Given the description of an element on the screen output the (x, y) to click on. 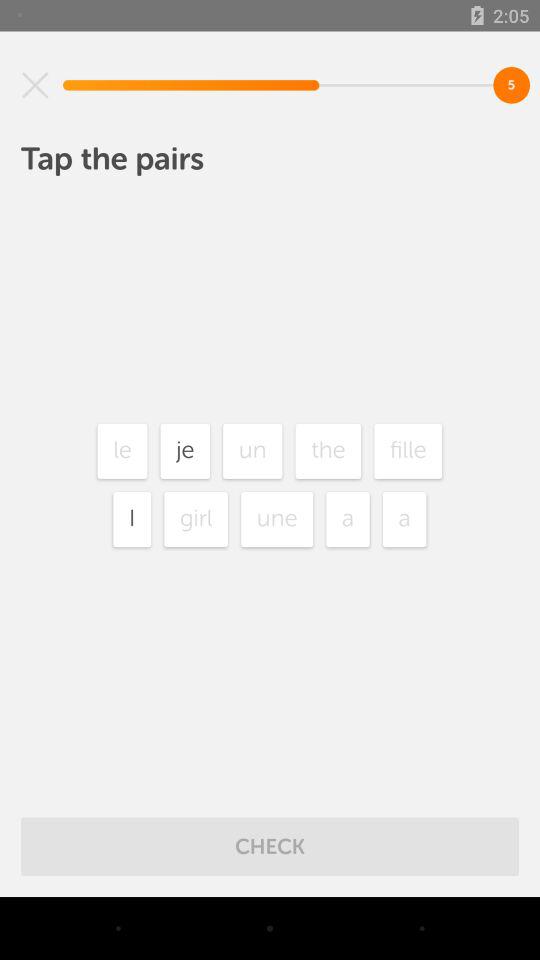
flip until je (185, 450)
